Given the description of an element on the screen output the (x, y) to click on. 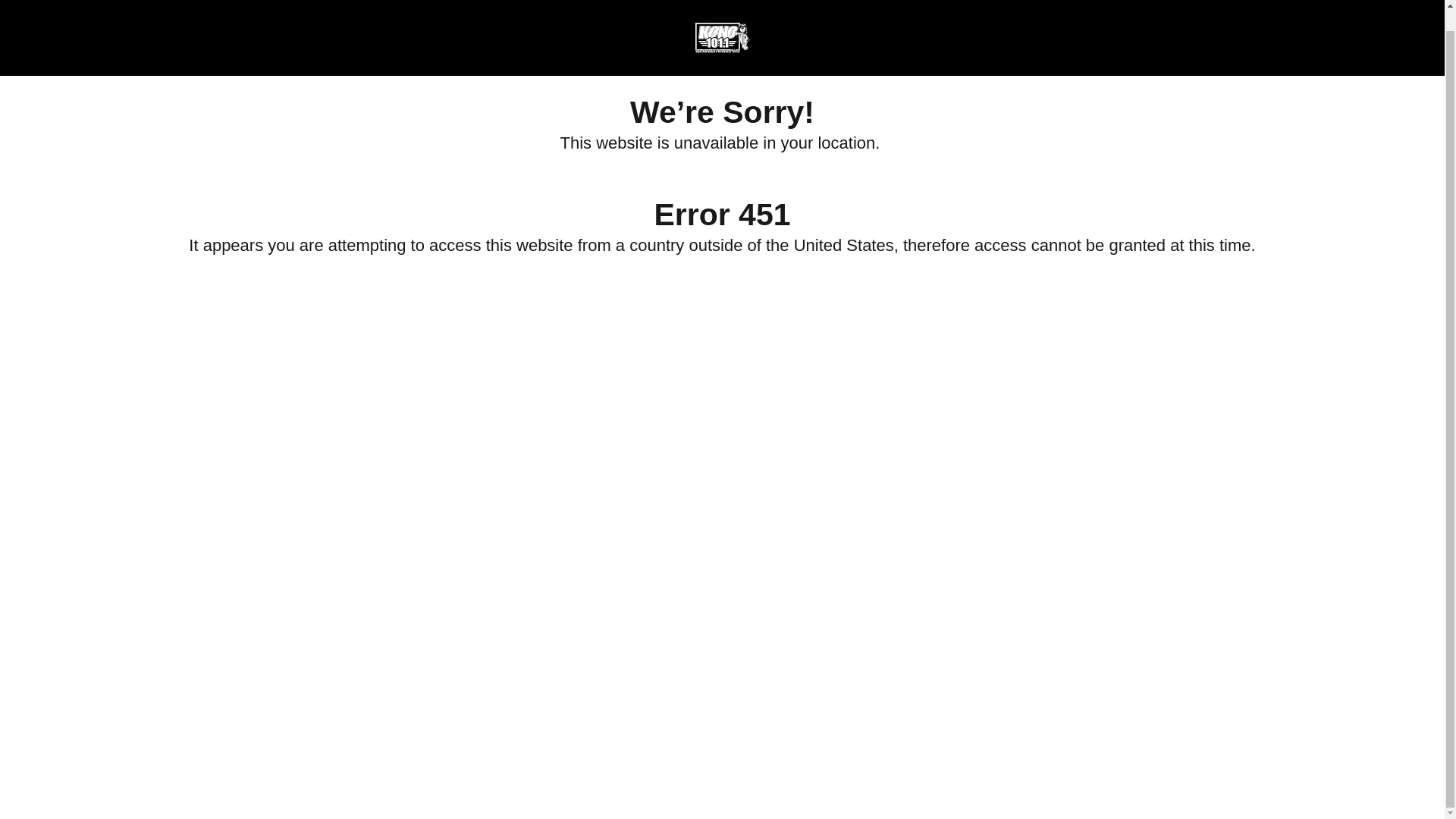
KONO 101.1 (721, 17)
